Given the description of an element on the screen output the (x, y) to click on. 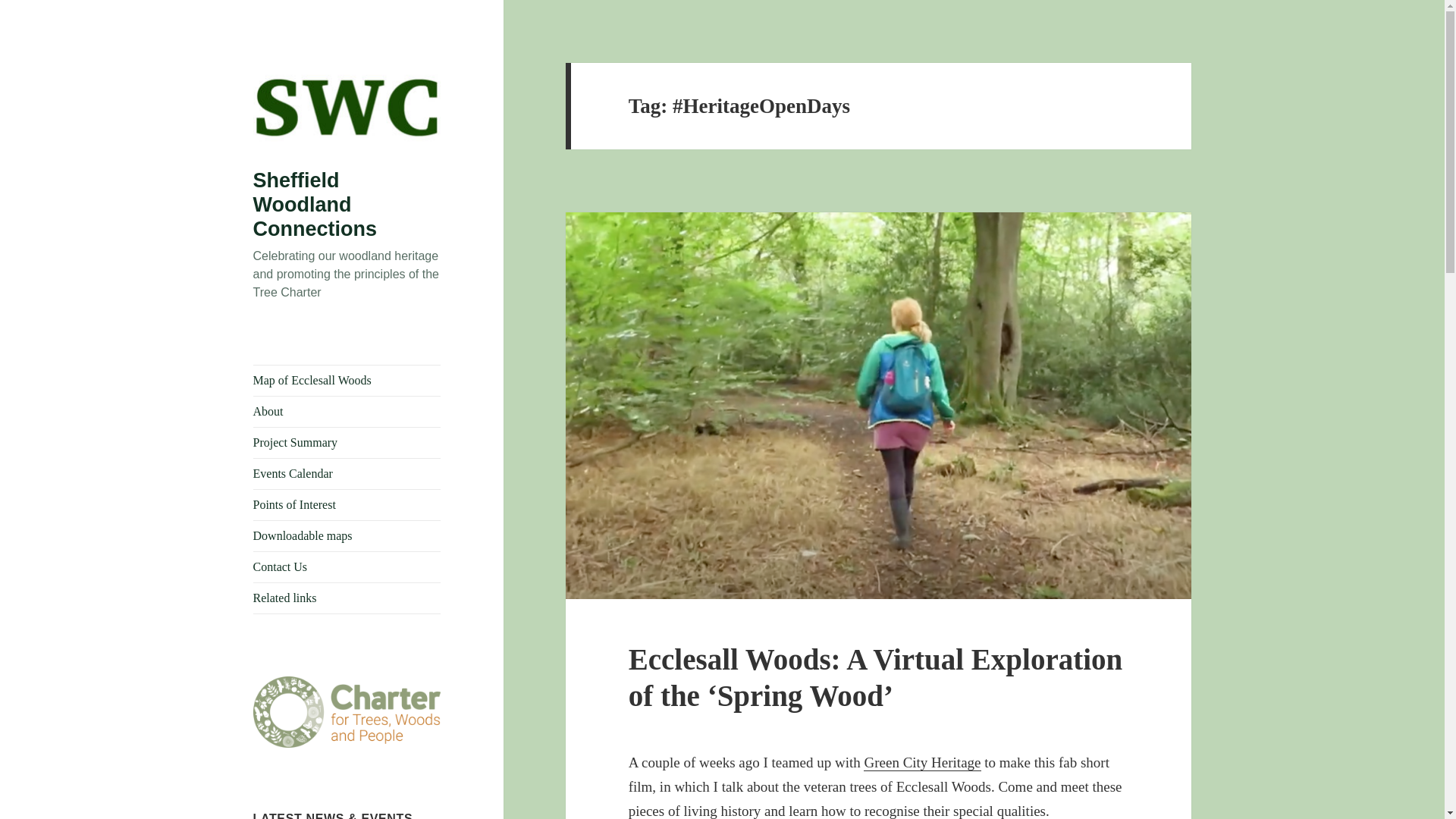
Points of Interest (347, 504)
Sheffield Woodland Connections (315, 204)
Project Summary (347, 442)
About (347, 411)
Events Calendar (347, 473)
Map of Ecclesall Woods (347, 380)
